Given the description of an element on the screen output the (x, y) to click on. 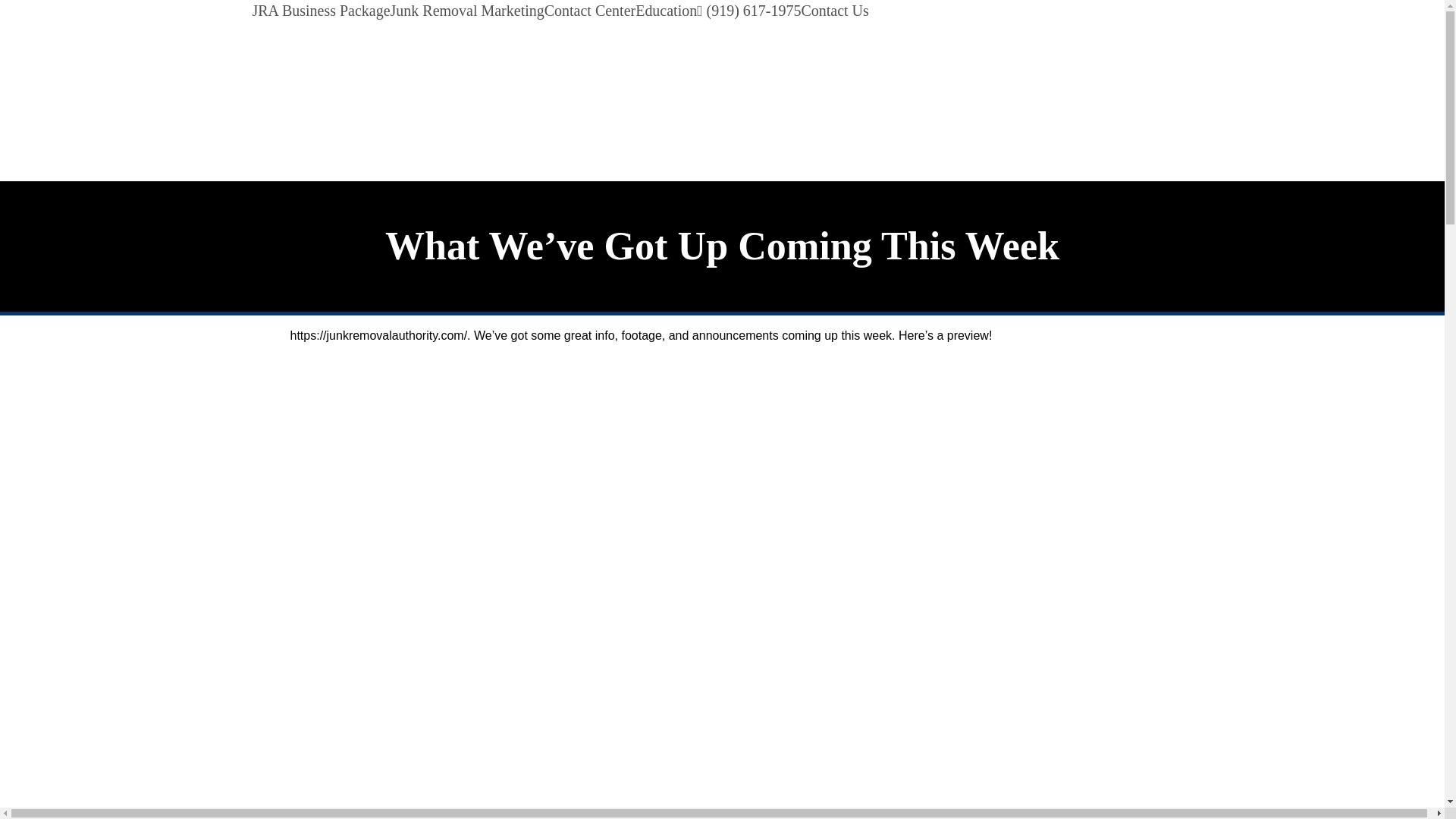
Junk Removal Marketing (467, 10)
JRA Business Package (320, 10)
Contact Us (833, 10)
Education (665, 10)
Contact Center (589, 10)
